Given the description of an element on the screen output the (x, y) to click on. 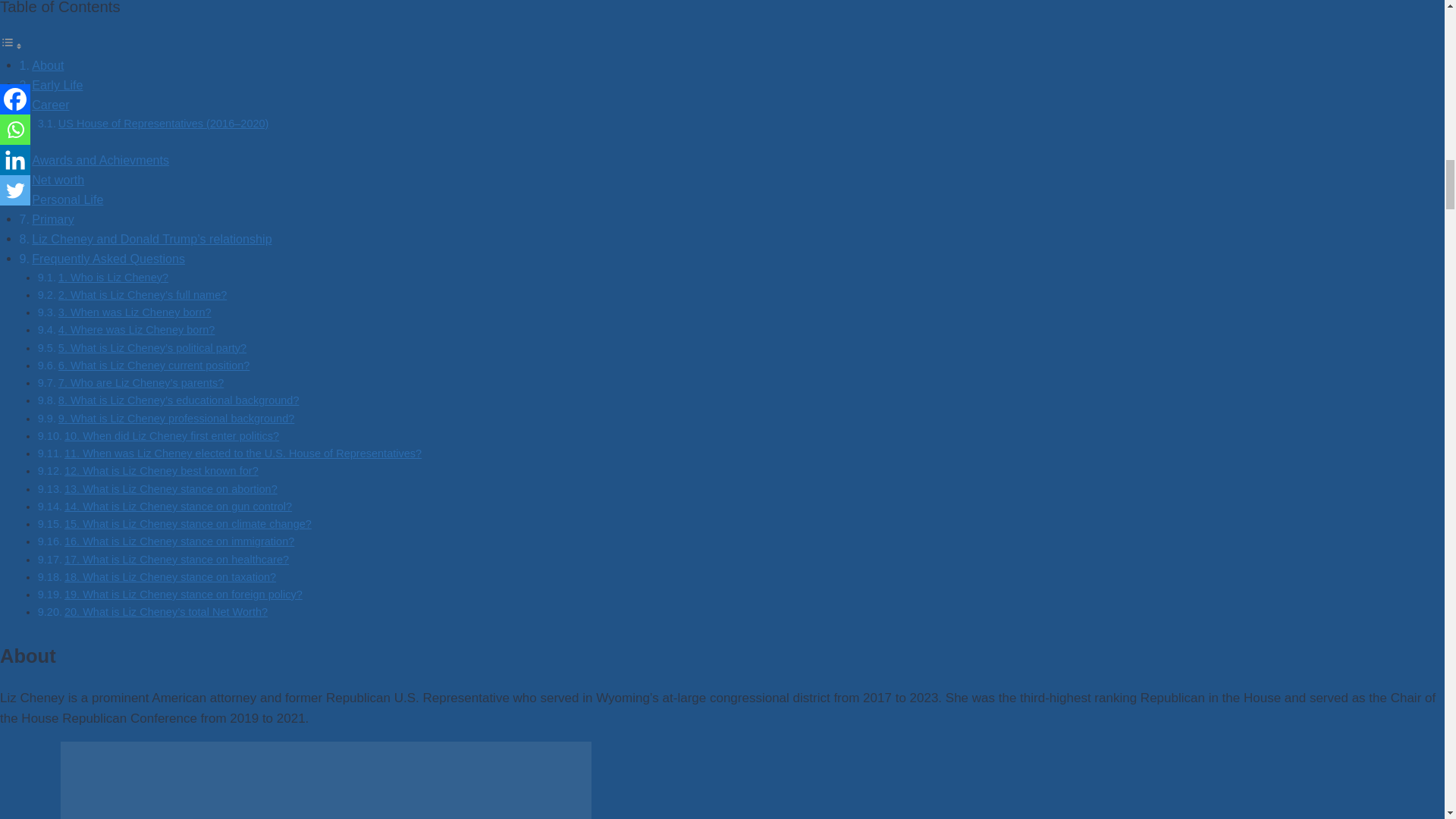
Personal Life (67, 199)
Early Life (57, 84)
Career (50, 104)
Primary (53, 219)
Frequently Asked Questions (108, 258)
Awards and Achievments (100, 160)
Net worth (58, 179)
About (48, 65)
